Given the description of an element on the screen output the (x, y) to click on. 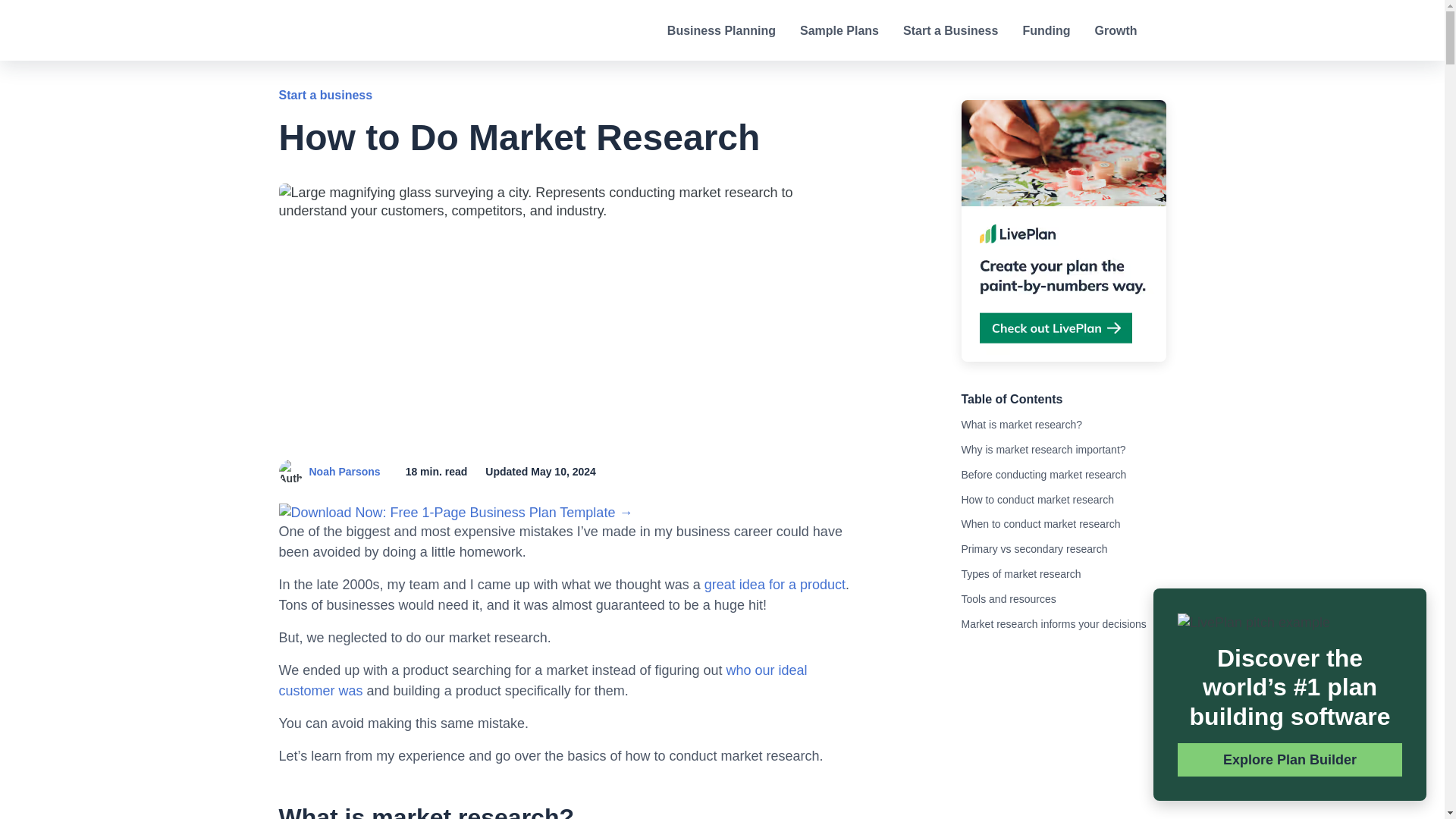
Sample Plans (839, 30)
Growth (1115, 30)
Start a Business (949, 30)
LivePlan pitch example (1253, 622)
Business Planning (721, 30)
Funding (1046, 30)
Author: Noah Parsons (290, 471)
